Given the description of an element on the screen output the (x, y) to click on. 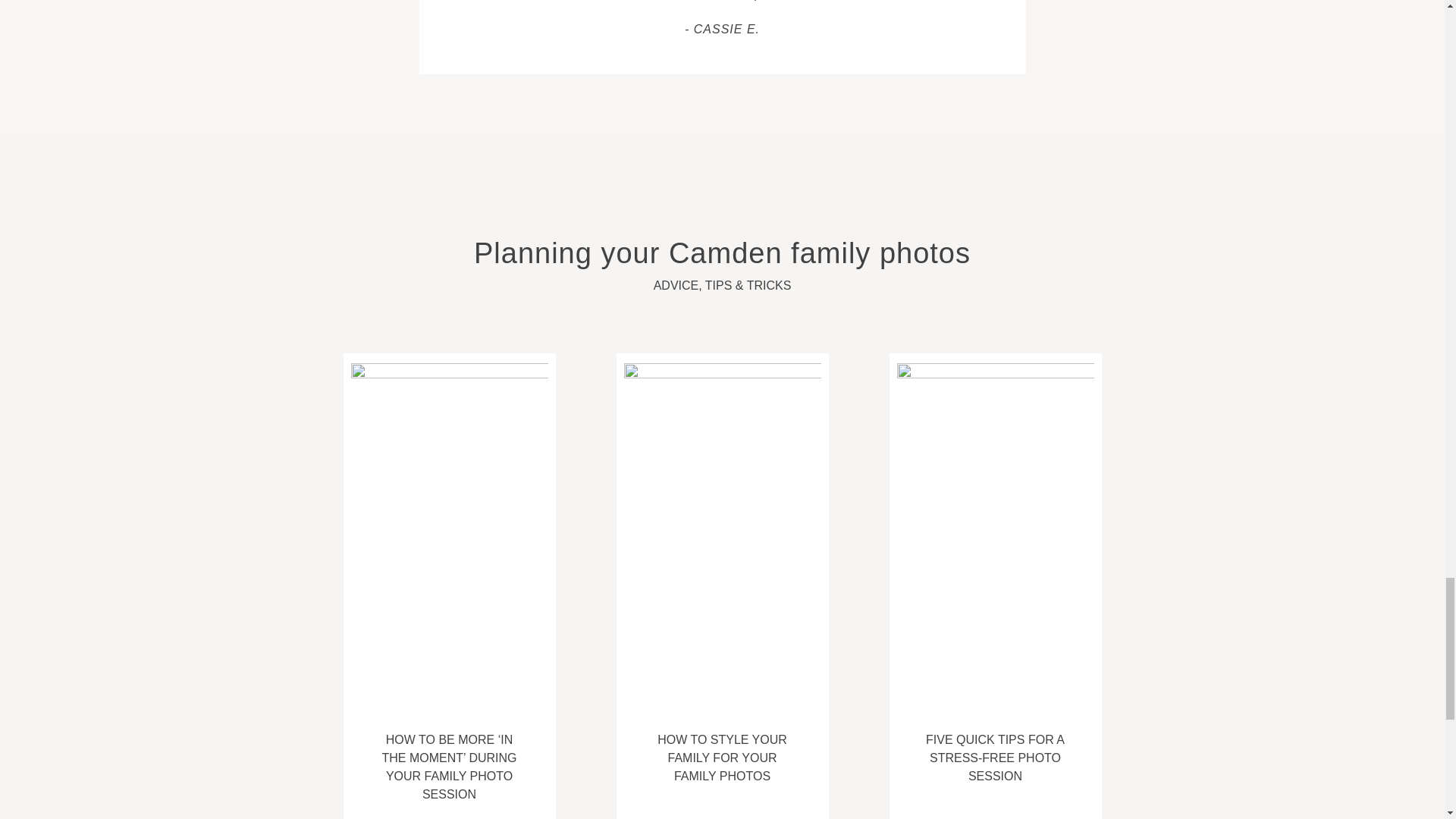
FIVE QUICK TIPS FOR A STRESS-FREE PHOTO SESSION (995, 757)
HOW TO STYLE YOUR FAMILY FOR YOUR FAMILY PHOTOS (722, 757)
